Given the description of an element on the screen output the (x, y) to click on. 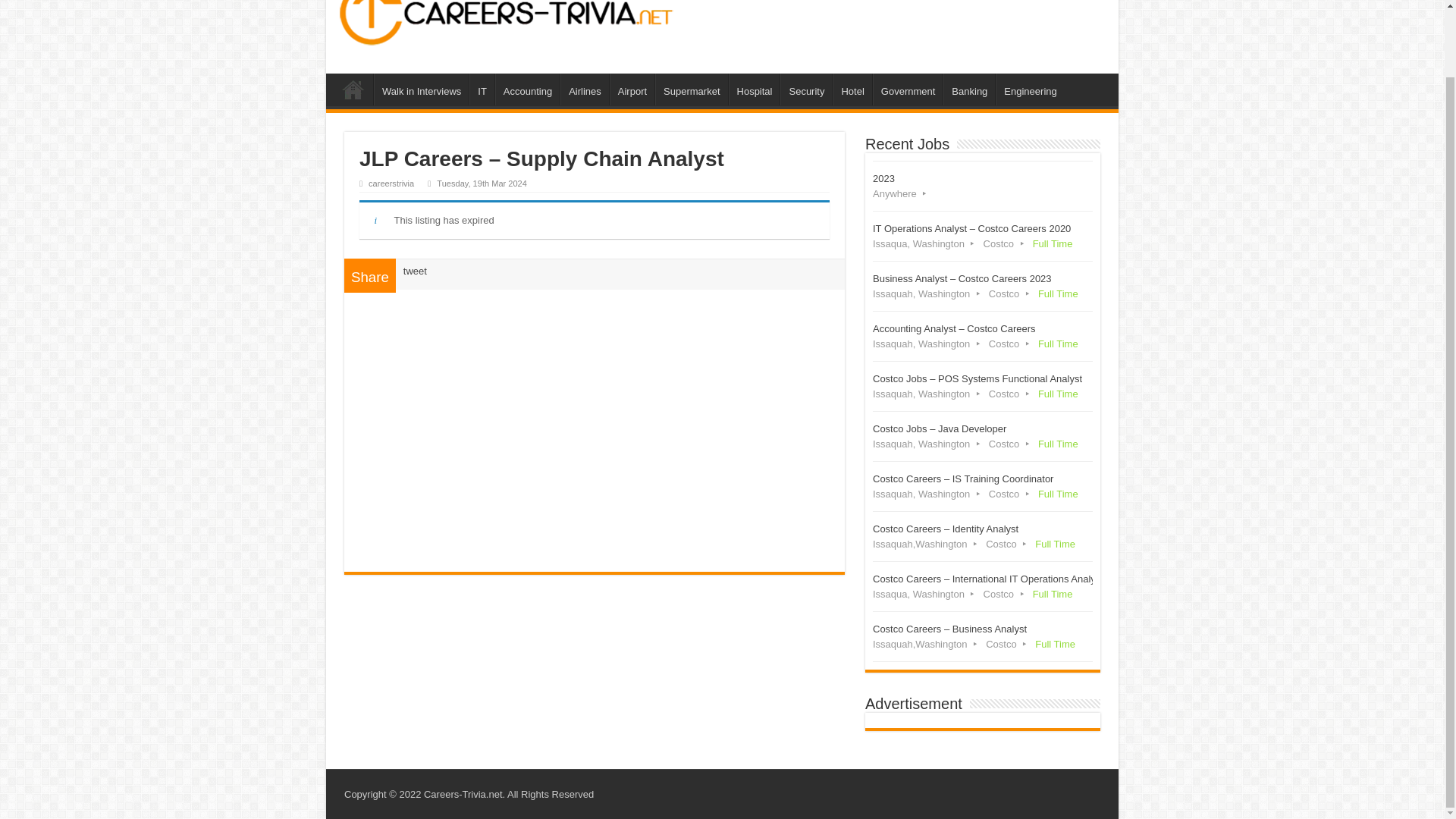
Accounting (527, 89)
Banking (968, 89)
Security (805, 89)
Walk in Interviews (421, 89)
Supermarket (690, 89)
Engineering (1029, 89)
tweet (414, 270)
Hospital (754, 89)
Government (907, 89)
